Given the description of an element on the screen output the (x, y) to click on. 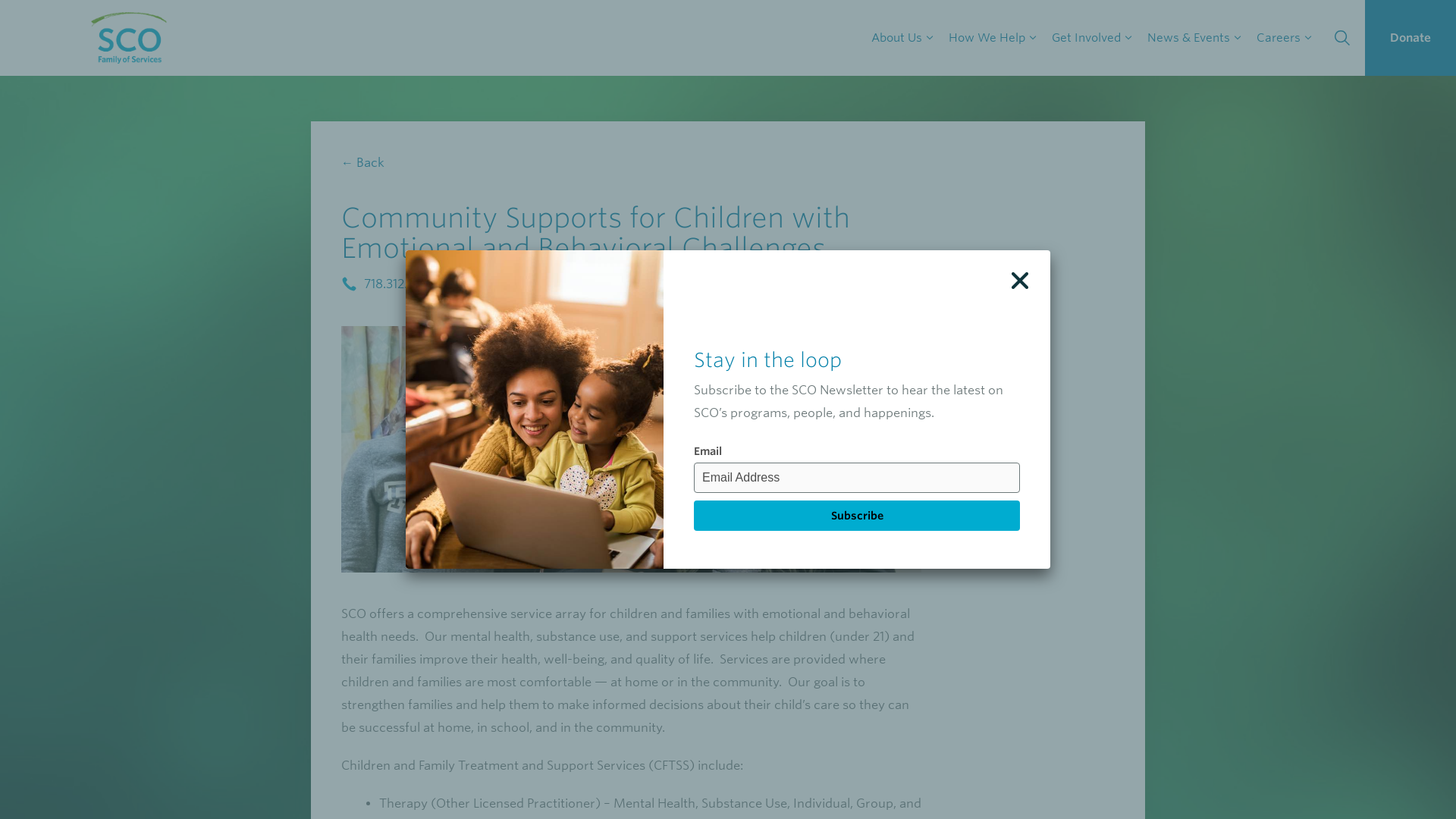
Search (1342, 38)
Subscribe (857, 515)
Careers (1284, 38)
How We Help (991, 38)
Email Address (857, 477)
Get Involved (1091, 38)
Search (15, 15)
About Us (901, 38)
